Given the description of an element on the screen output the (x, y) to click on. 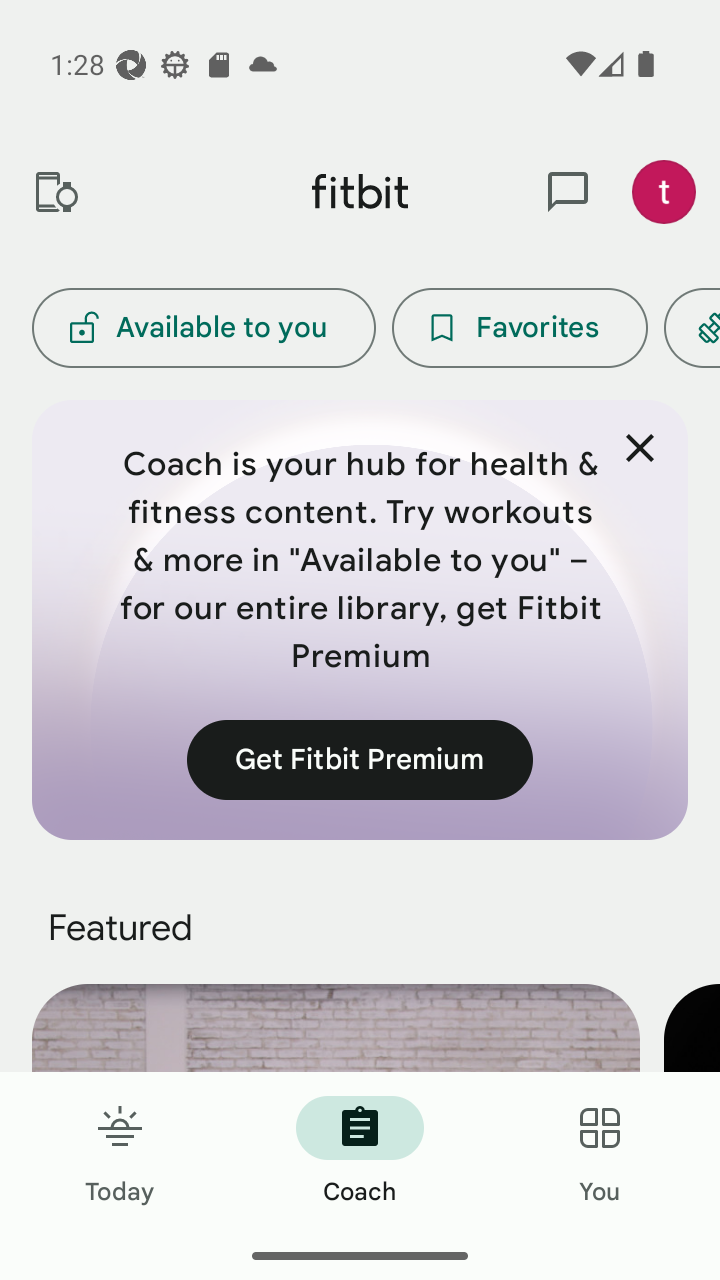
Devices and apps (55, 191)
messages and notifications (567, 191)
Available to you (203, 328)
Favorites (519, 328)
Close promotional content (639, 447)
Get Fitbit Premium (359, 759)
Today (119, 1151)
You (600, 1151)
